Given the description of an element on the screen output the (x, y) to click on. 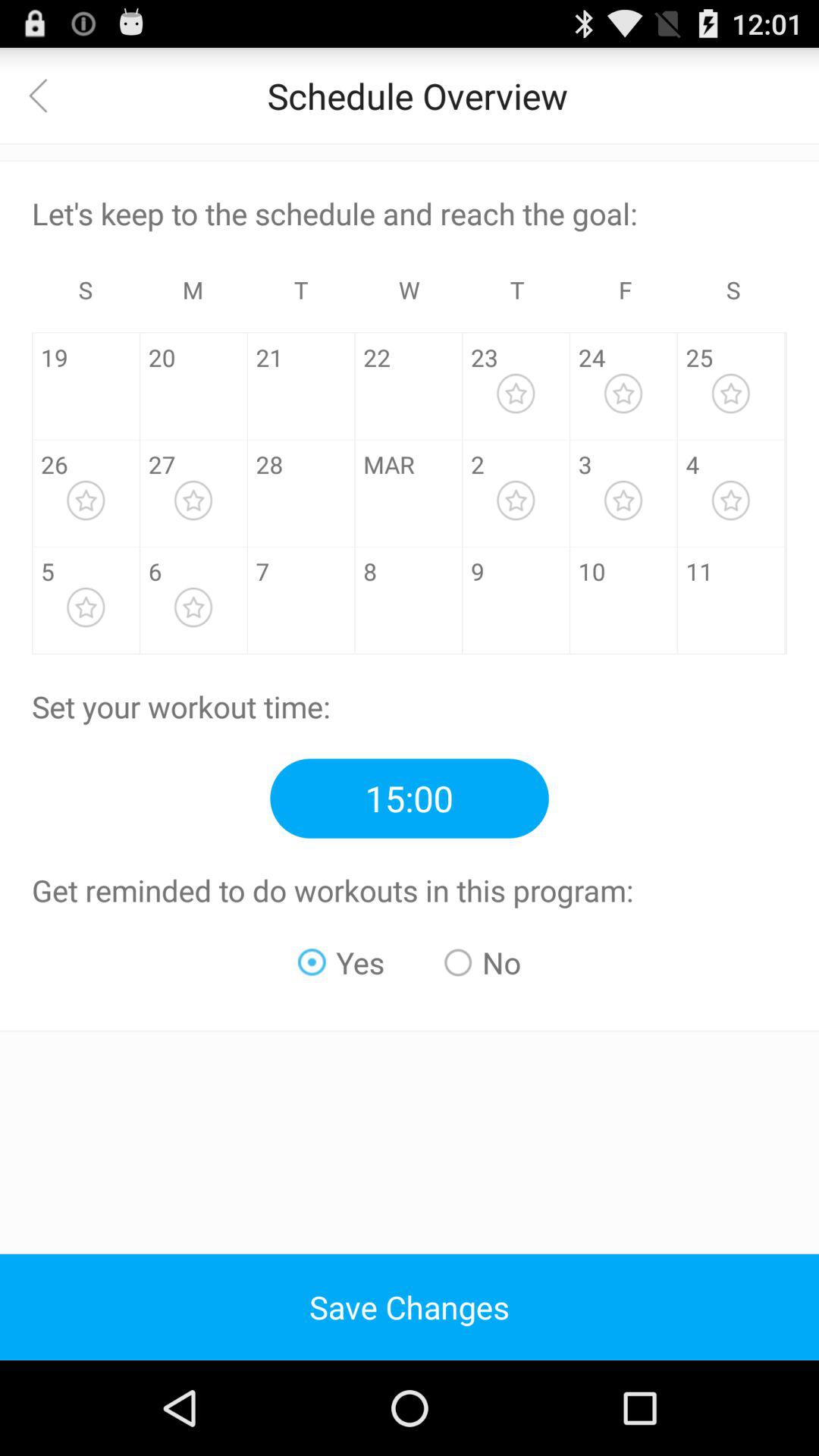
jump to yes radio button (341, 962)
